Given the description of an element on the screen output the (x, y) to click on. 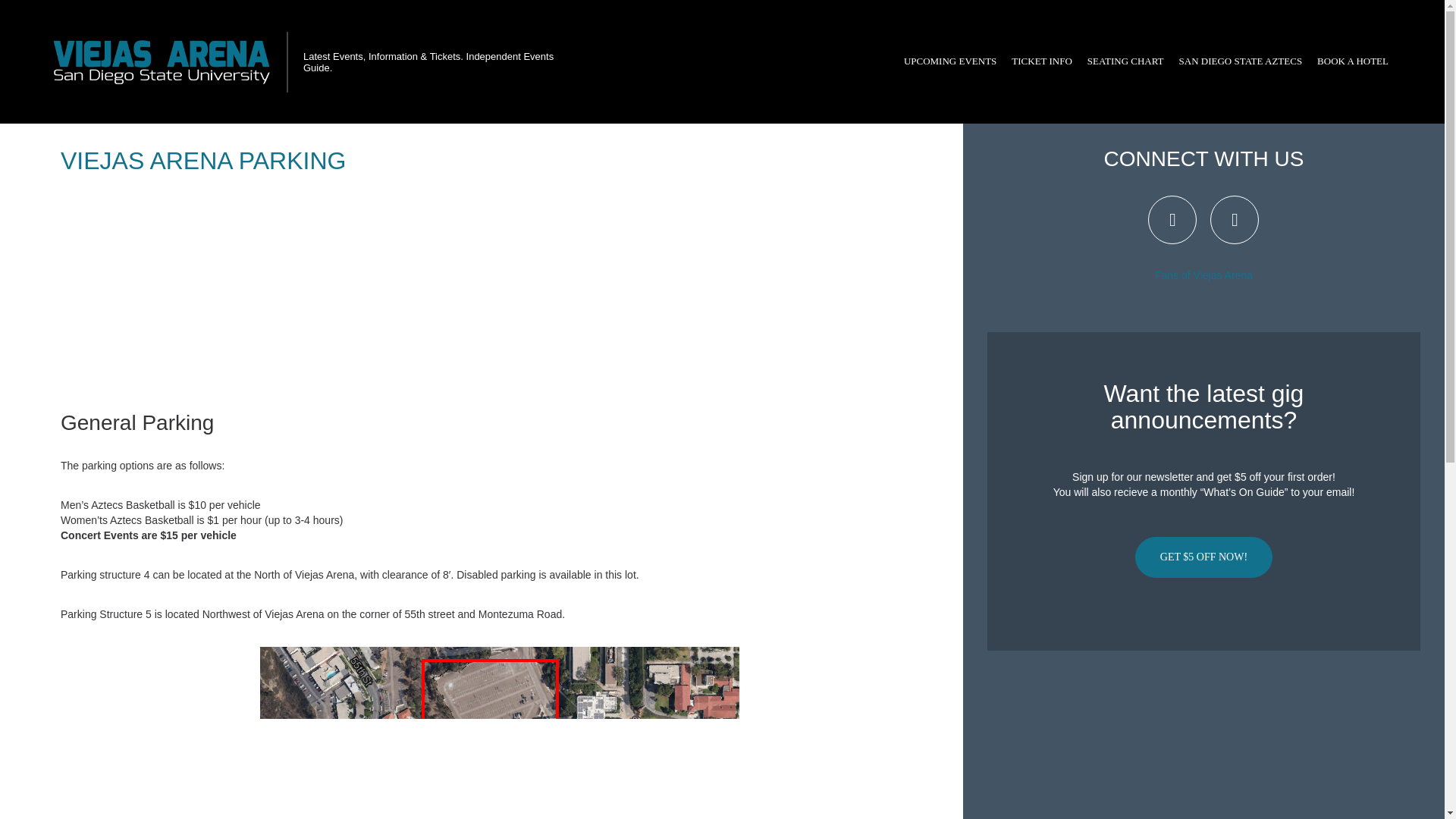
SAN DIEGO STATE AZTECS (1241, 61)
TICKET INFO (1042, 61)
BOOK A HOTEL (1352, 61)
SEATING CHART (1126, 61)
UPCOMING EVENTS (950, 61)
Fans of Viejas Arena (1203, 275)
